Given the description of an element on the screen output the (x, y) to click on. 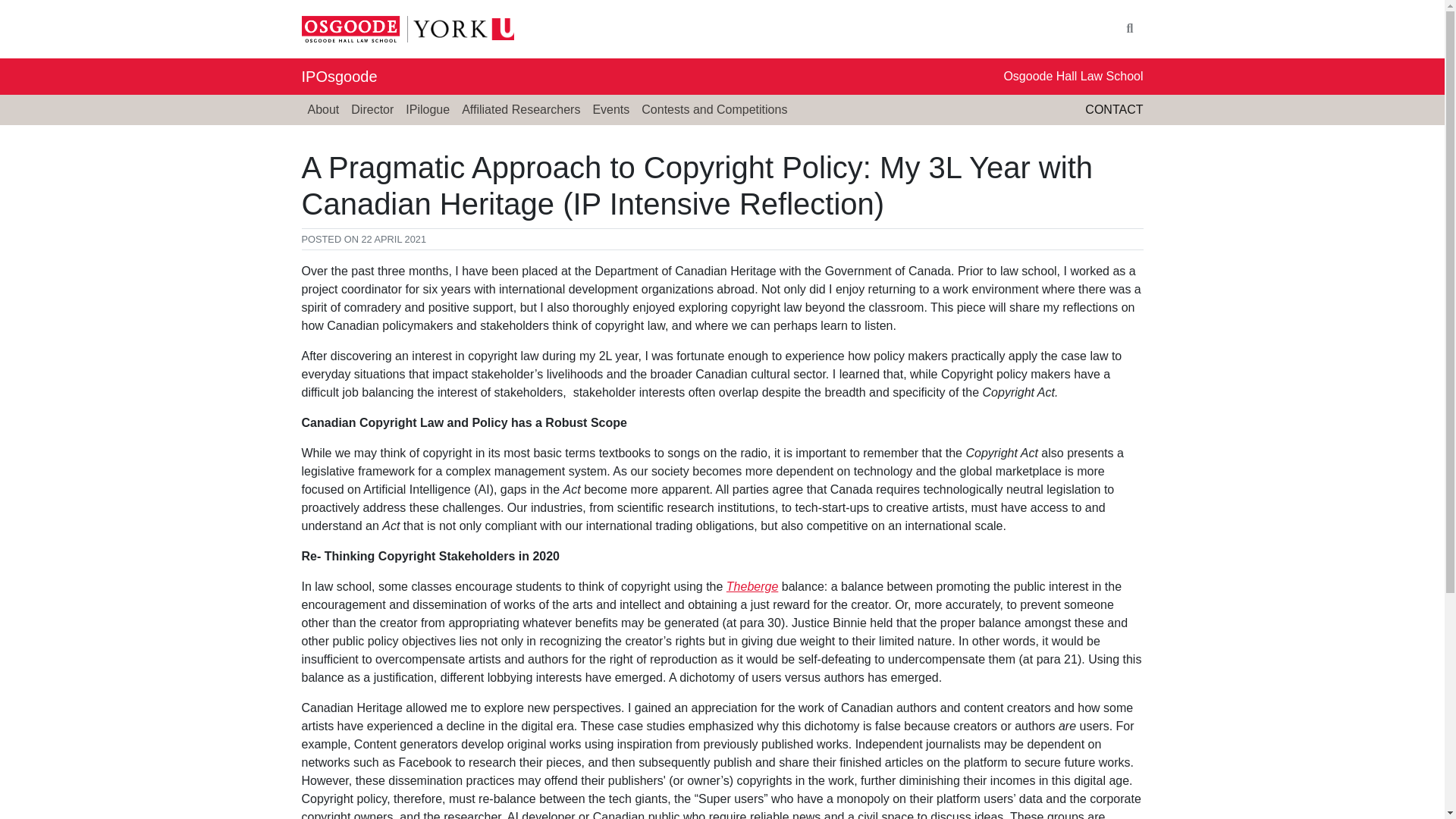
Director (371, 110)
IPilogue (426, 110)
IPOsgoode (339, 76)
Search (1129, 28)
Affiliated Researchers (520, 110)
CONTACT (1113, 109)
Events (610, 110)
About (323, 110)
Osgoode Hall Law School (1072, 75)
Contests and Competitions (713, 110)
Theberge (752, 585)
